Given the description of an element on the screen output the (x, y) to click on. 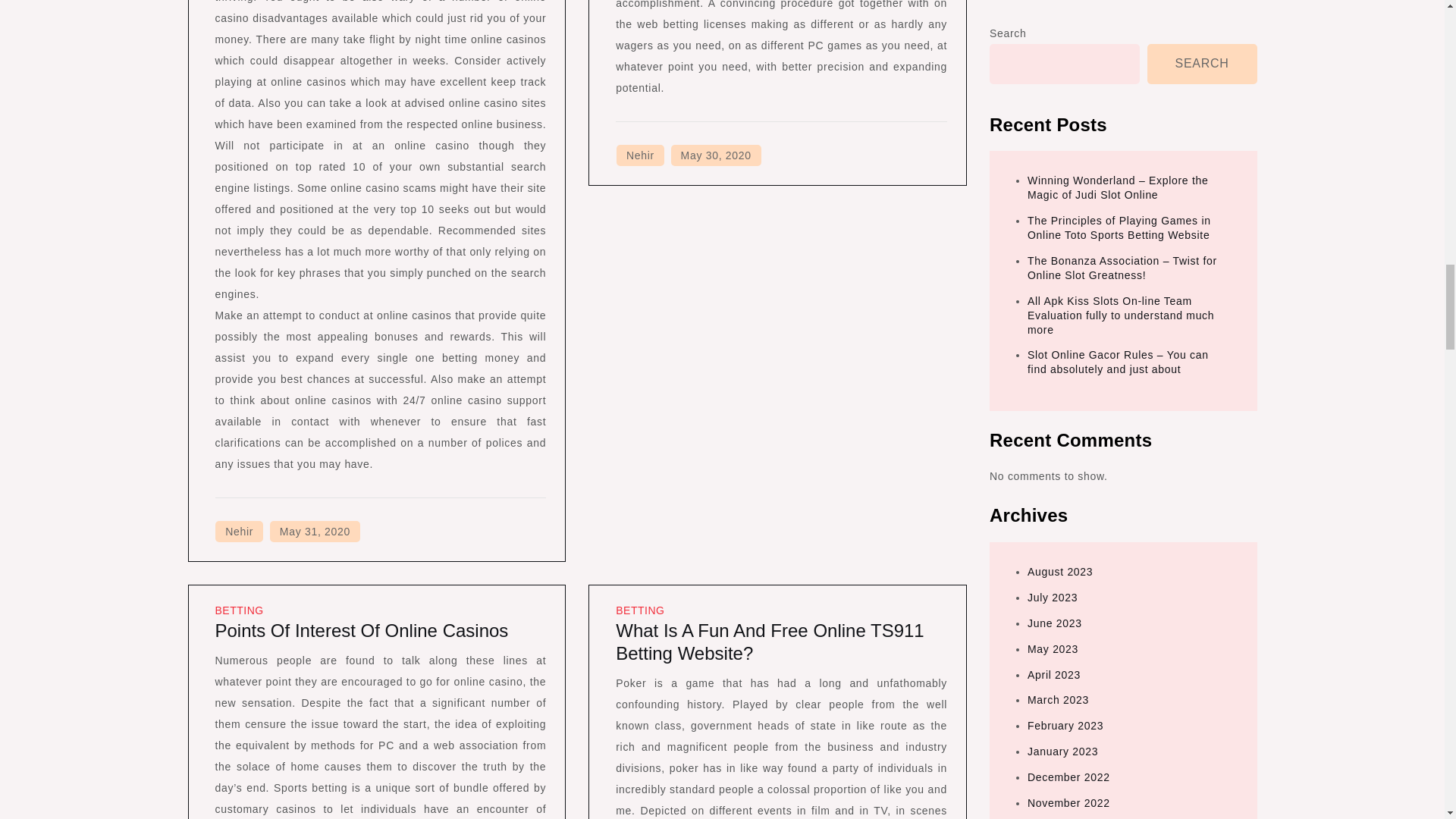
What Is A Fun And Free Online TS911 Betting Website? (769, 641)
BETTING (639, 610)
BETTING (239, 610)
Nehir (239, 531)
Points Of Interest Of Online Casinos (361, 629)
May 30, 2020 (716, 155)
May 31, 2020 (314, 531)
Nehir (639, 155)
